Given the description of an element on the screen output the (x, y) to click on. 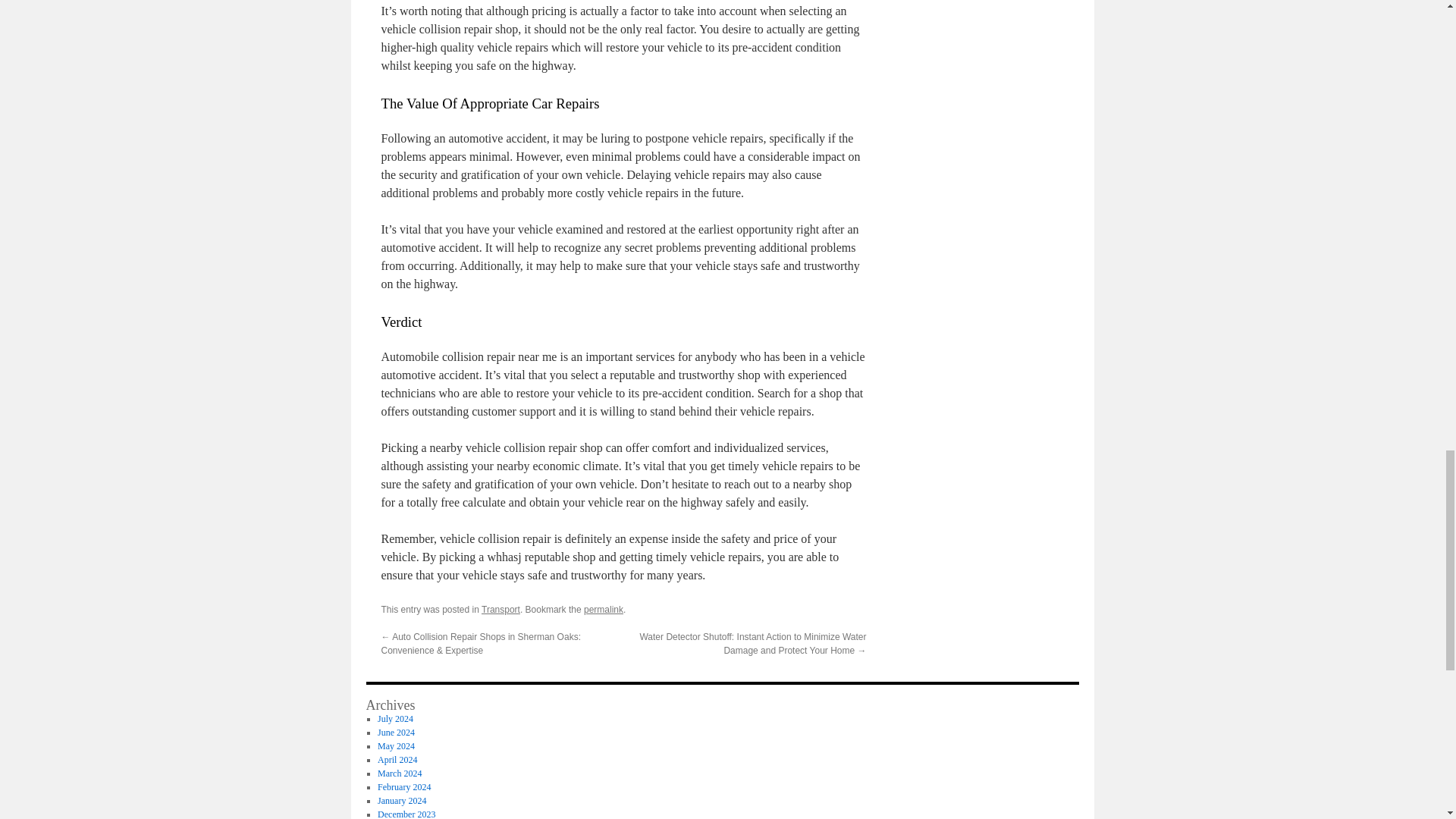
May 2024 (395, 746)
December 2023 (406, 814)
April 2024 (396, 759)
February 2024 (403, 787)
March 2024 (399, 773)
Transport (500, 609)
permalink (603, 609)
July 2024 (395, 718)
January 2024 (401, 800)
June 2024 (395, 732)
